Given the description of an element on the screen output the (x, y) to click on. 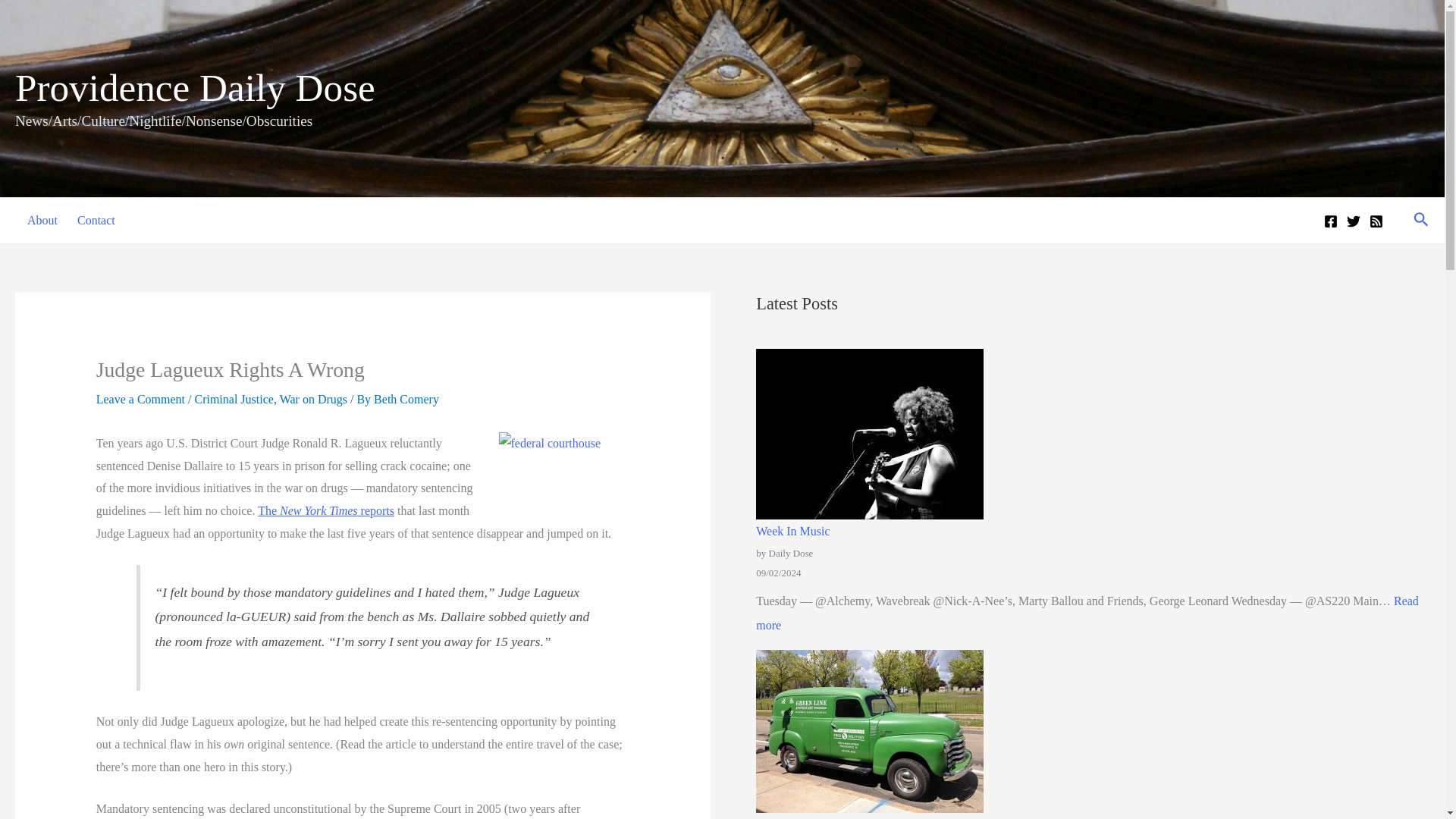
Leave a Comment (140, 399)
Criminal Justice (233, 399)
Beth Comery (406, 399)
About (1086, 612)
Week In Music (39, 220)
Providence Daily Dose (792, 530)
The New York Times reports (194, 87)
Contact (325, 510)
War on Drugs (93, 220)
